Given the description of an element on the screen output the (x, y) to click on. 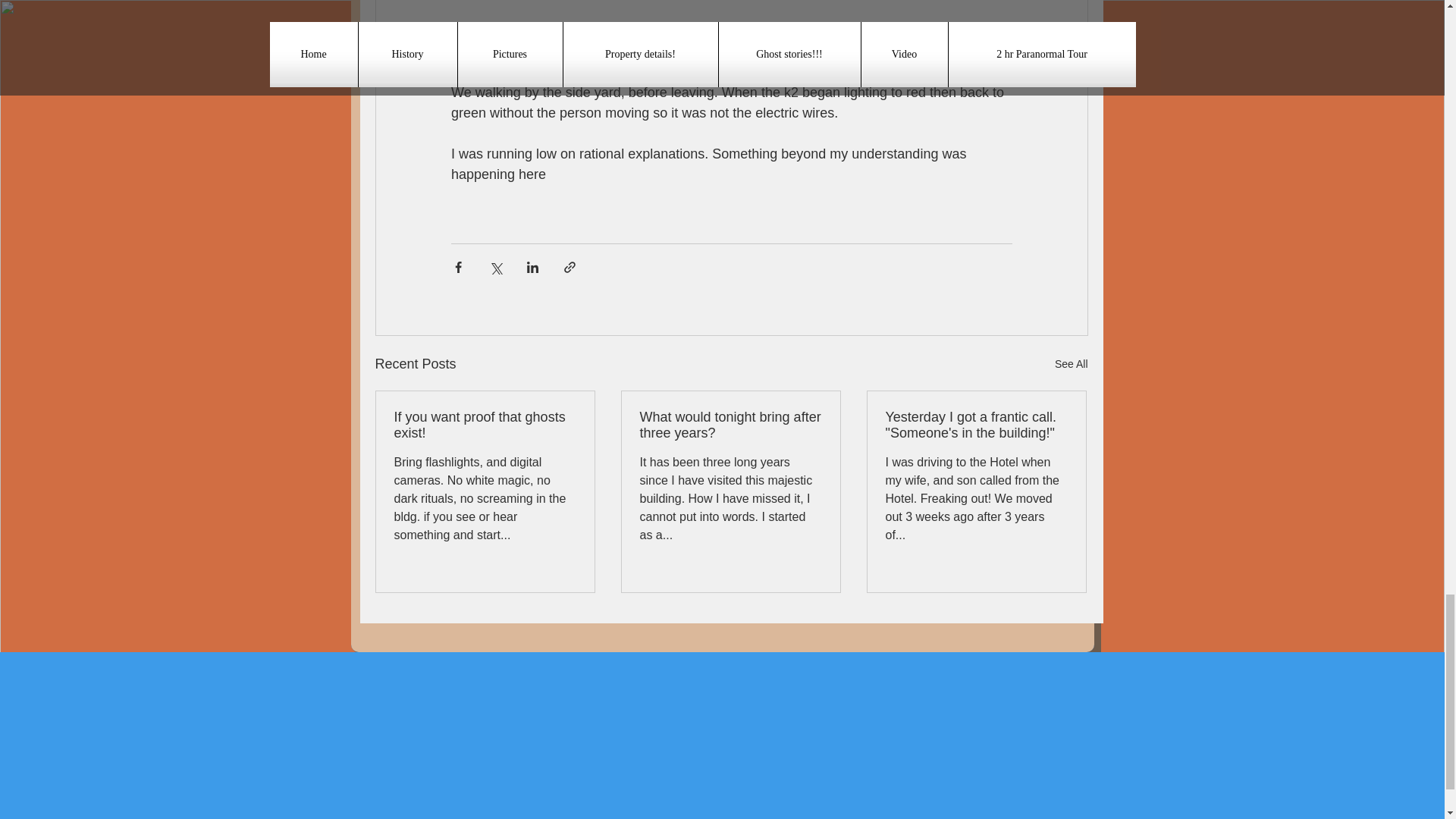
See All (1070, 363)
What would tonight bring after three years? (731, 425)
If you want proof that ghosts exist! (485, 425)
Yesterday I got a frantic call. "Someone's in the building!" (976, 425)
